Given the description of an element on the screen output the (x, y) to click on. 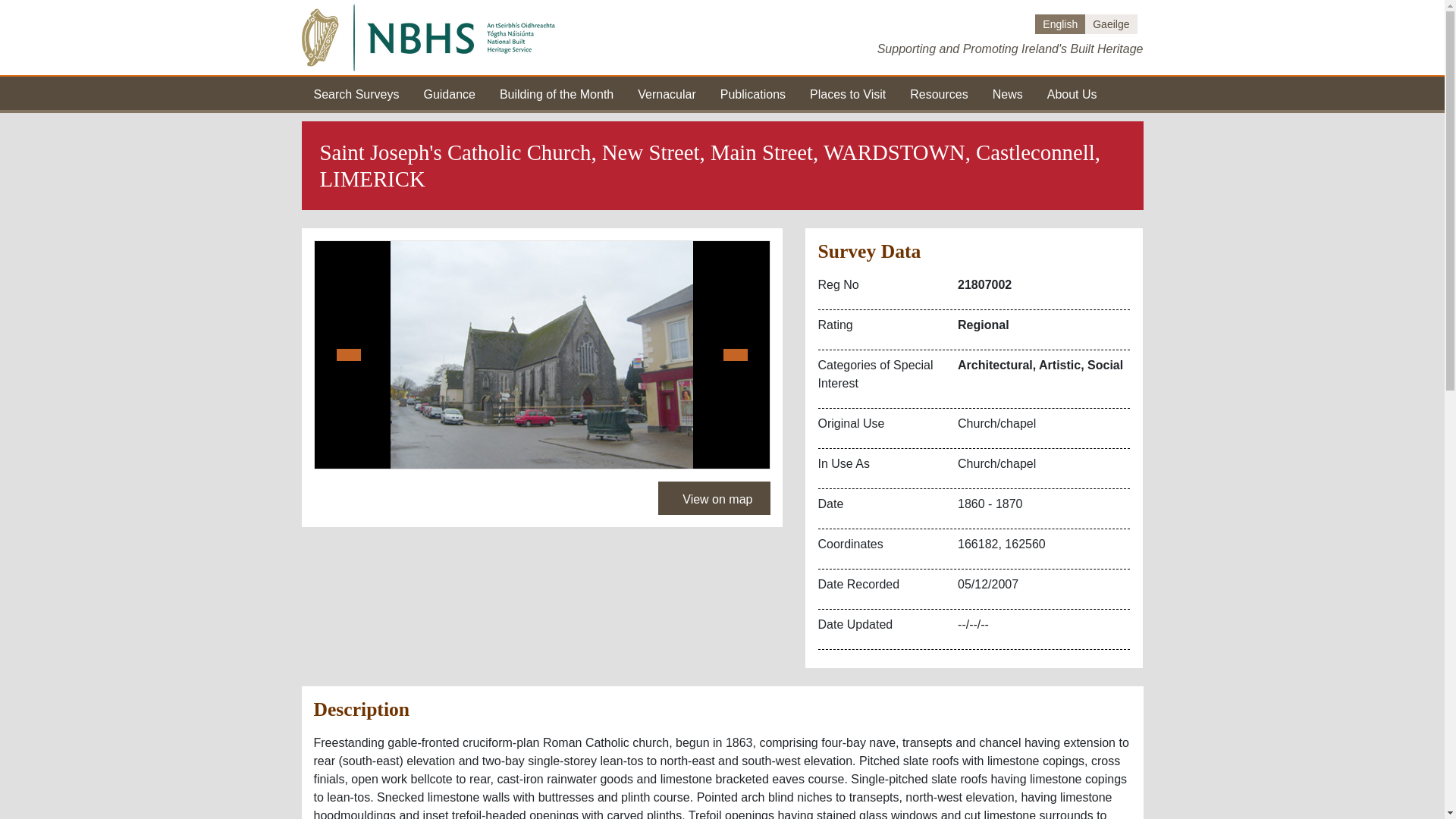
News (1007, 92)
Vernacular (666, 92)
English (1059, 24)
Search Surveys (356, 92)
Resources (939, 92)
About Us (1071, 92)
Building of the Month (555, 92)
View on map (714, 498)
Places to Visit (847, 92)
Gaeilge (1110, 24)
